Given the description of an element on the screen output the (x, y) to click on. 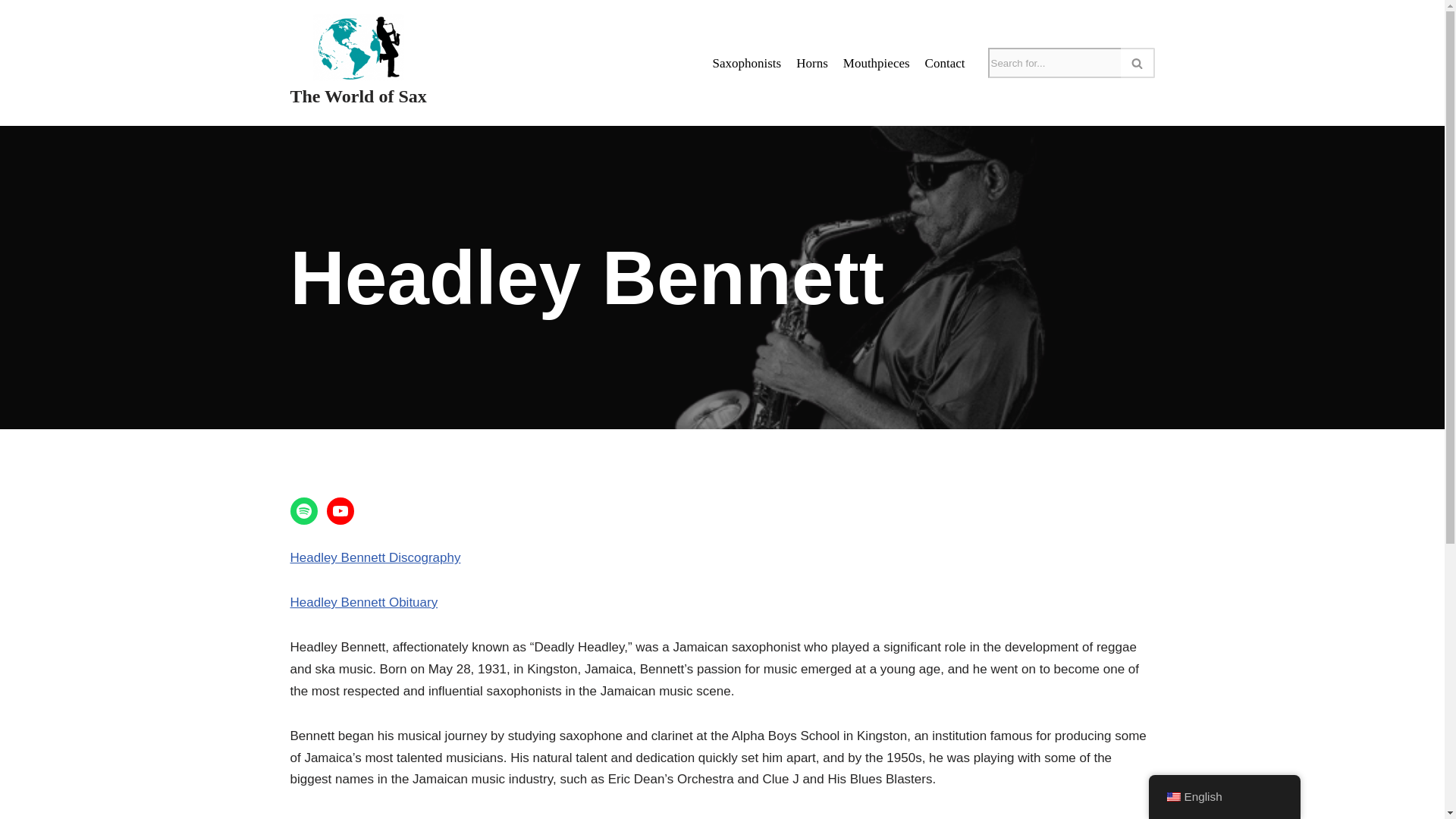
English (1172, 796)
cropped-World-of-Sax-Logo-3.png - The World of Sax (358, 47)
Headley Bennett Discography (374, 557)
The World of Sax (357, 62)
English (1224, 796)
Headley Bennett Obituary (363, 602)
Headley Bennett Obituary (363, 602)
Mouthpieces (876, 63)
Horns (812, 63)
Headley Bennett Discography (374, 557)
Skip to content (11, 31)
Contact (944, 63)
The World of Sax (357, 62)
Saxophonists (747, 63)
